Given the description of an element on the screen output the (x, y) to click on. 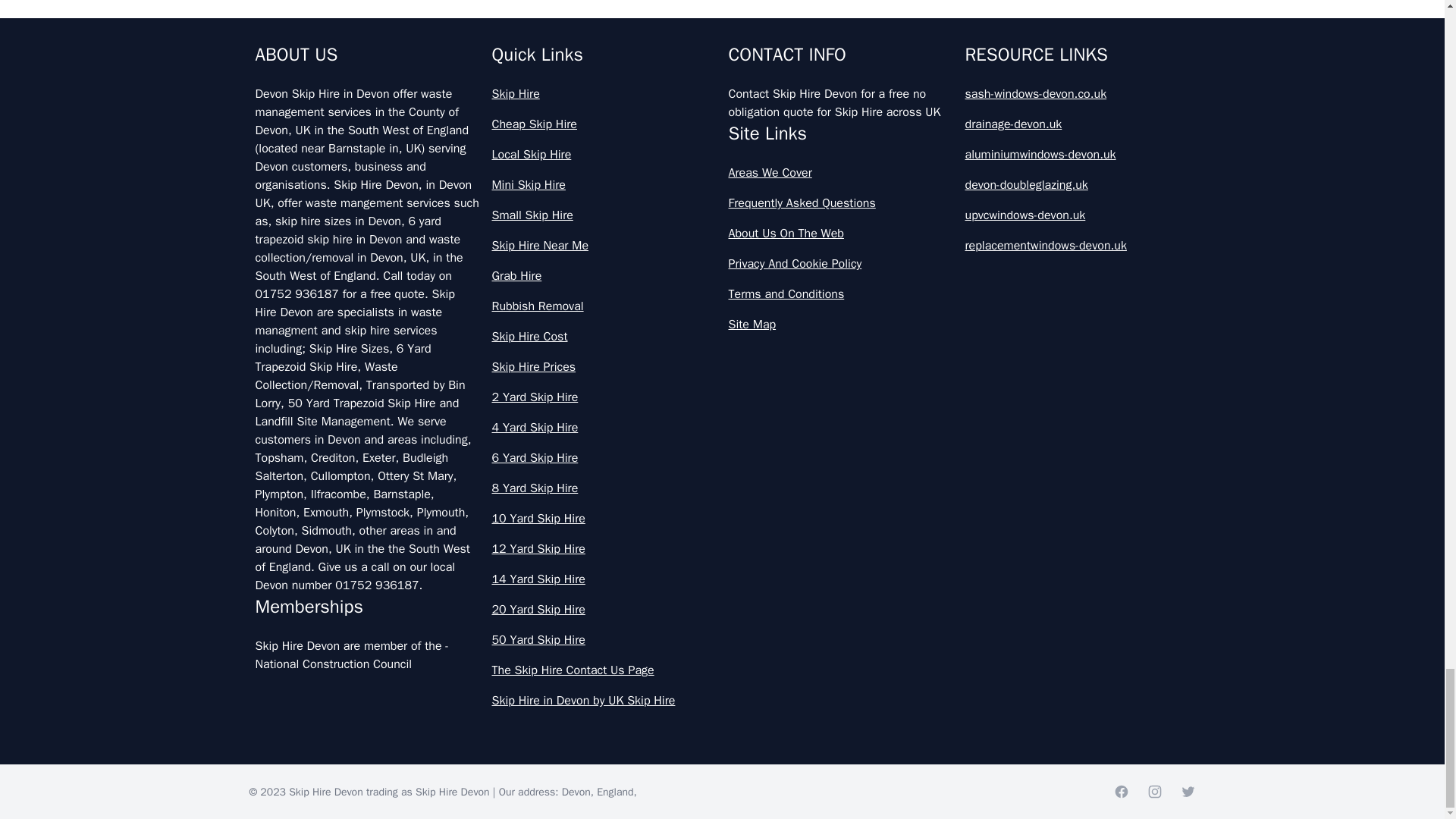
devon-doubleglazing.uk (1076, 185)
Site Map (840, 324)
Is Grab Hire Cheaper Than A Skip In Devon (722, 18)
aluminiumwindows-devon.uk (1076, 154)
replacementwindows-devon.uk (1076, 245)
drainage-devon.uk (1076, 124)
sash-windows-devon.co.uk (1076, 94)
upvcwindows-devon.uk (1076, 215)
Skip Hire in Devon by UK Skip Hire (604, 700)
